Given the description of an element on the screen output the (x, y) to click on. 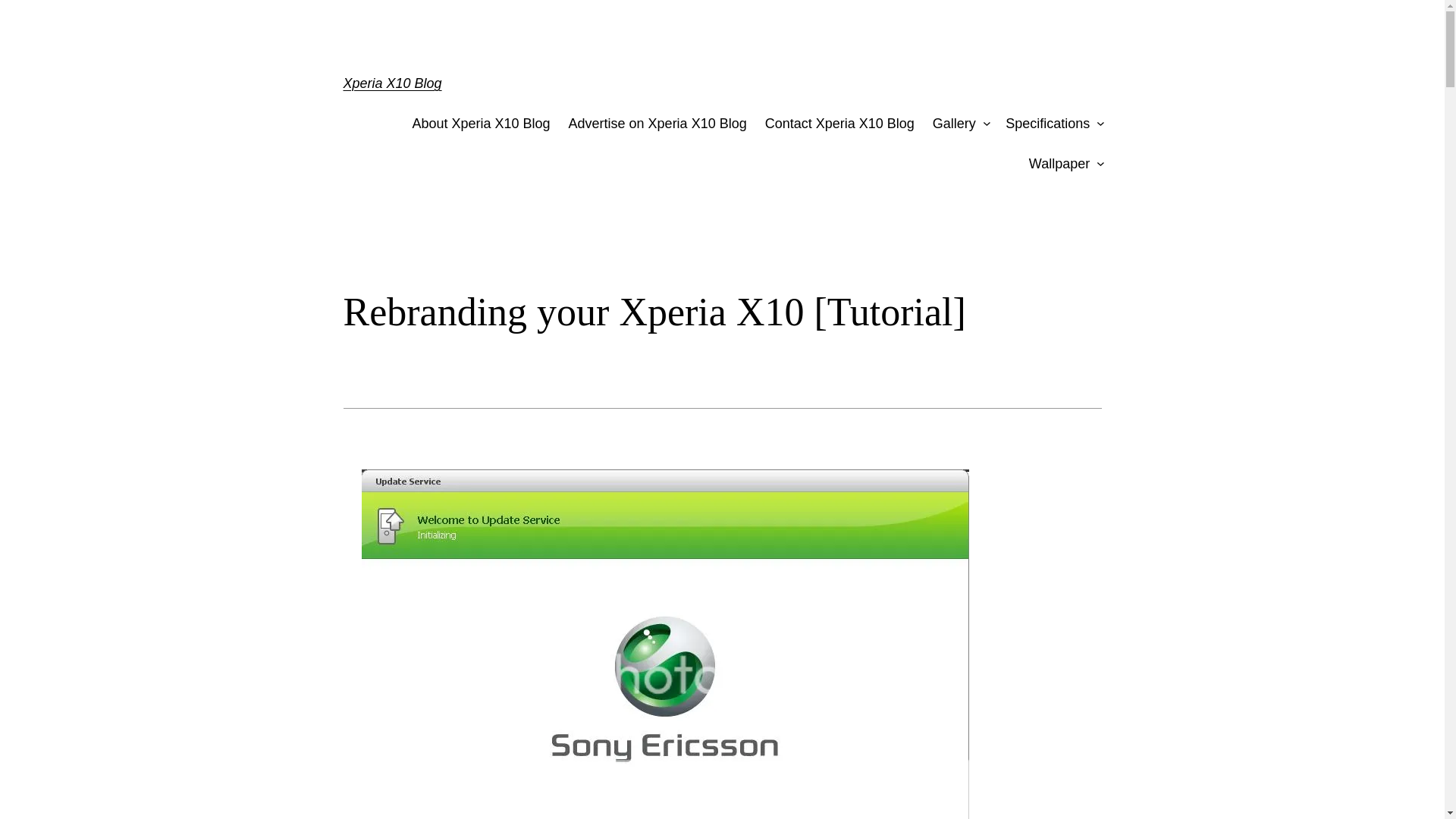
About Xperia X10 Blog (481, 124)
Xperia X10 Blog (391, 83)
Contact Xperia X10 Blog (839, 124)
Wallpaper (1059, 164)
Advertise on Xperia X10 Blog (657, 124)
Specifications (1047, 124)
Gallery (954, 124)
